Given the description of an element on the screen output the (x, y) to click on. 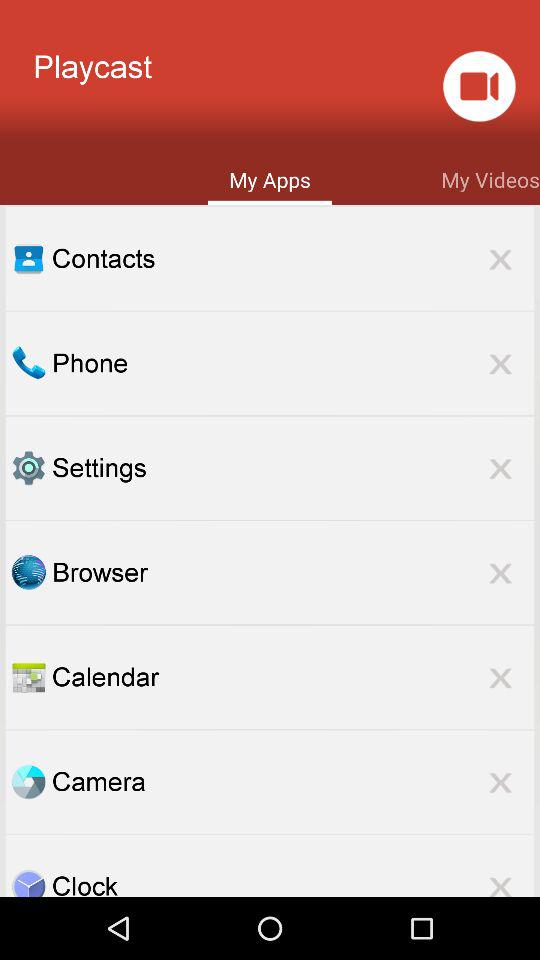
jump until calendar icon (293, 676)
